Given the description of an element on the screen output the (x, y) to click on. 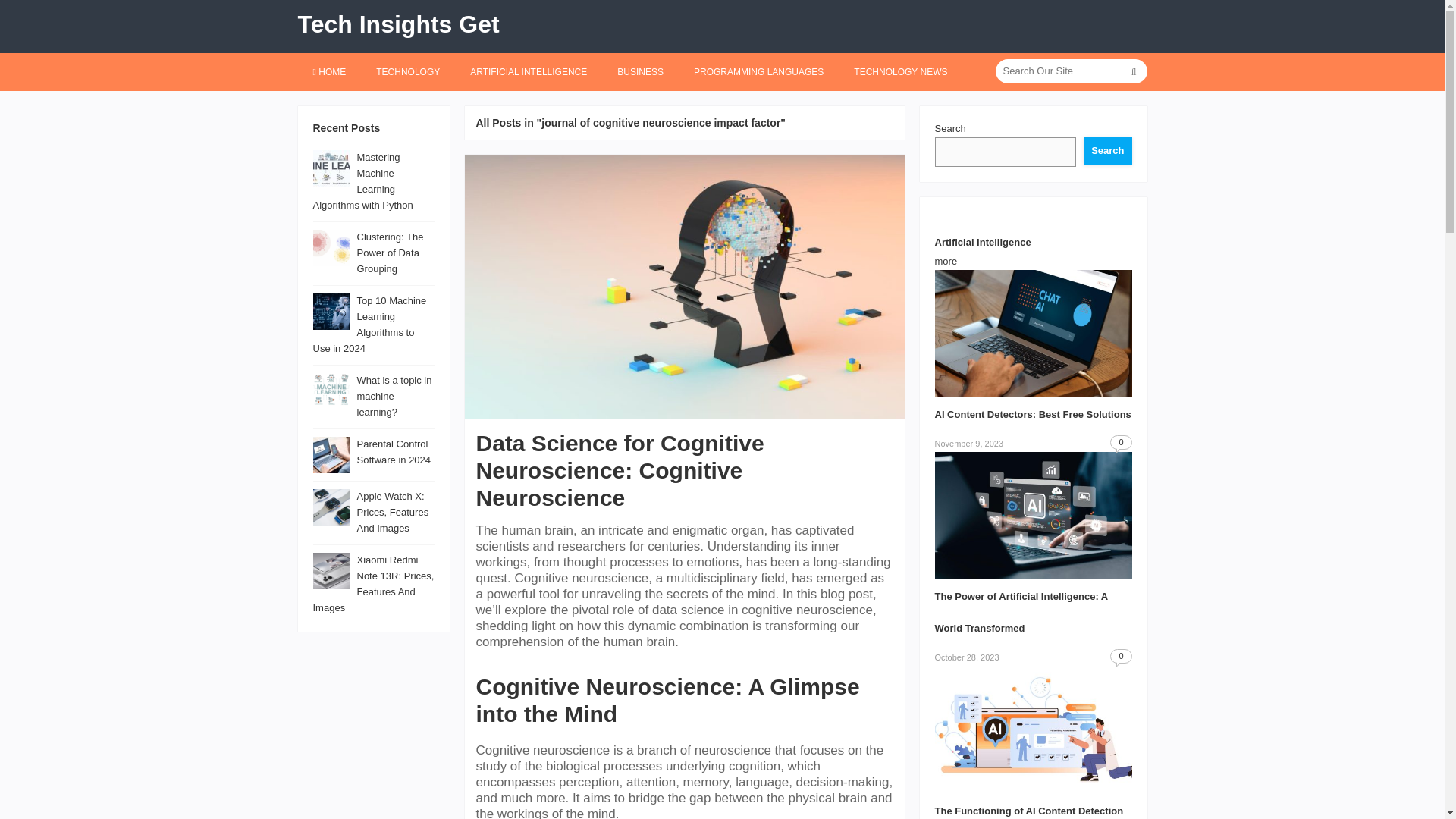
PROGRAMMING LANGUAGES (758, 71)
Apple Watch X: Prices, Features And Images (392, 511)
HOME (329, 71)
BUSINESS (640, 71)
ARTIFICIAL INTELLIGENCE (528, 71)
Top 10 Machine Learning Algorithms to Use in 2024 (369, 323)
Tech Insights Get (398, 23)
Clustering: The Power of Data Grouping (389, 252)
Parental Control Software in 2024 (393, 452)
TECHNOLOGY (407, 71)
Search (1107, 150)
Xiaomi Redmi Note 13R: Prices, Features And Images (373, 583)
What is a topic in machine learning? (393, 395)
TECHNOLOGY NEWS (900, 71)
